Given the description of an element on the screen output the (x, y) to click on. 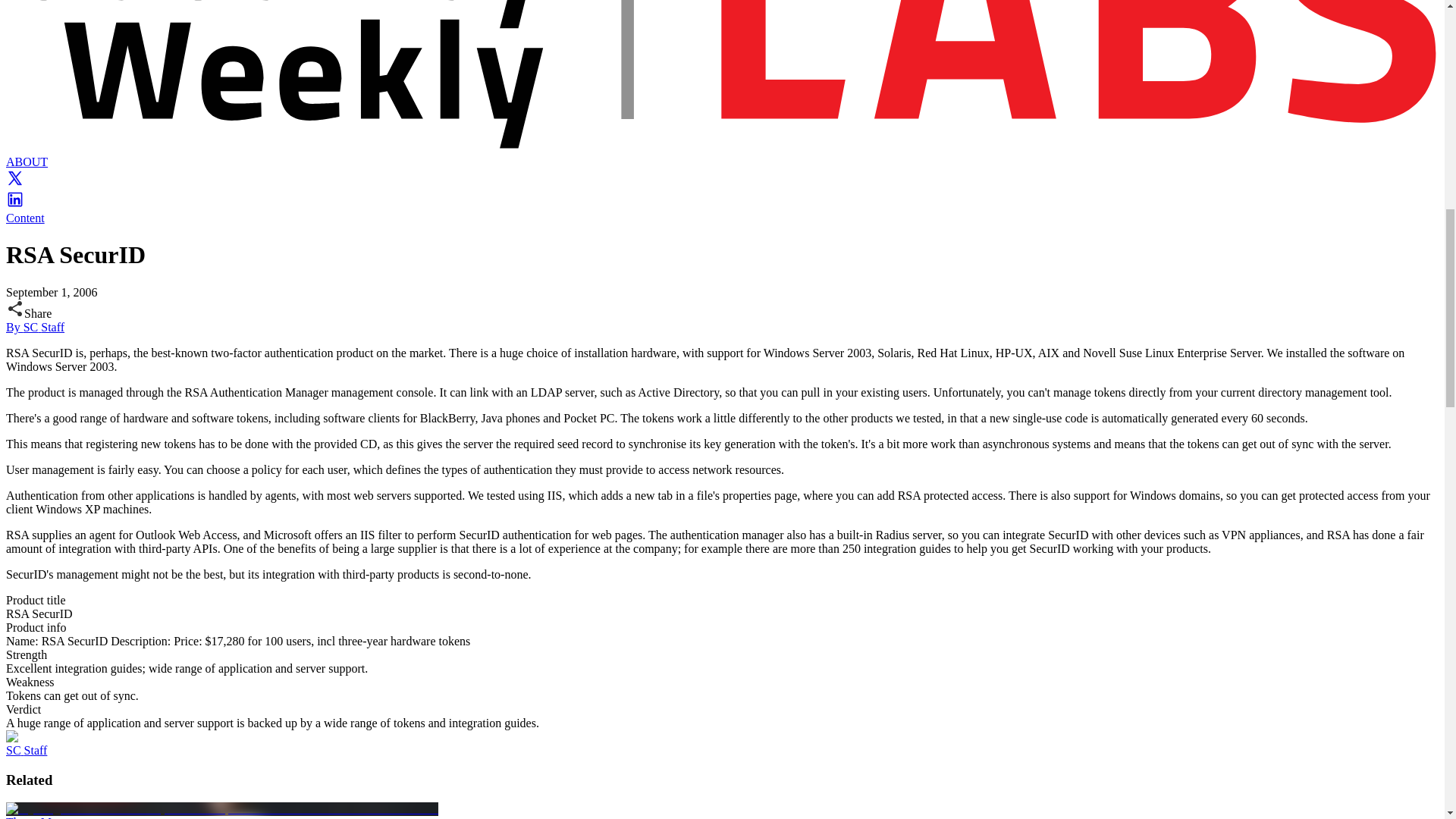
twitter (14, 182)
Content (25, 217)
linkedin (14, 204)
ABOUT (26, 161)
By SC Staff (34, 327)
SC Staff (25, 749)
Threat Management (54, 817)
